Given the description of an element on the screen output the (x, y) to click on. 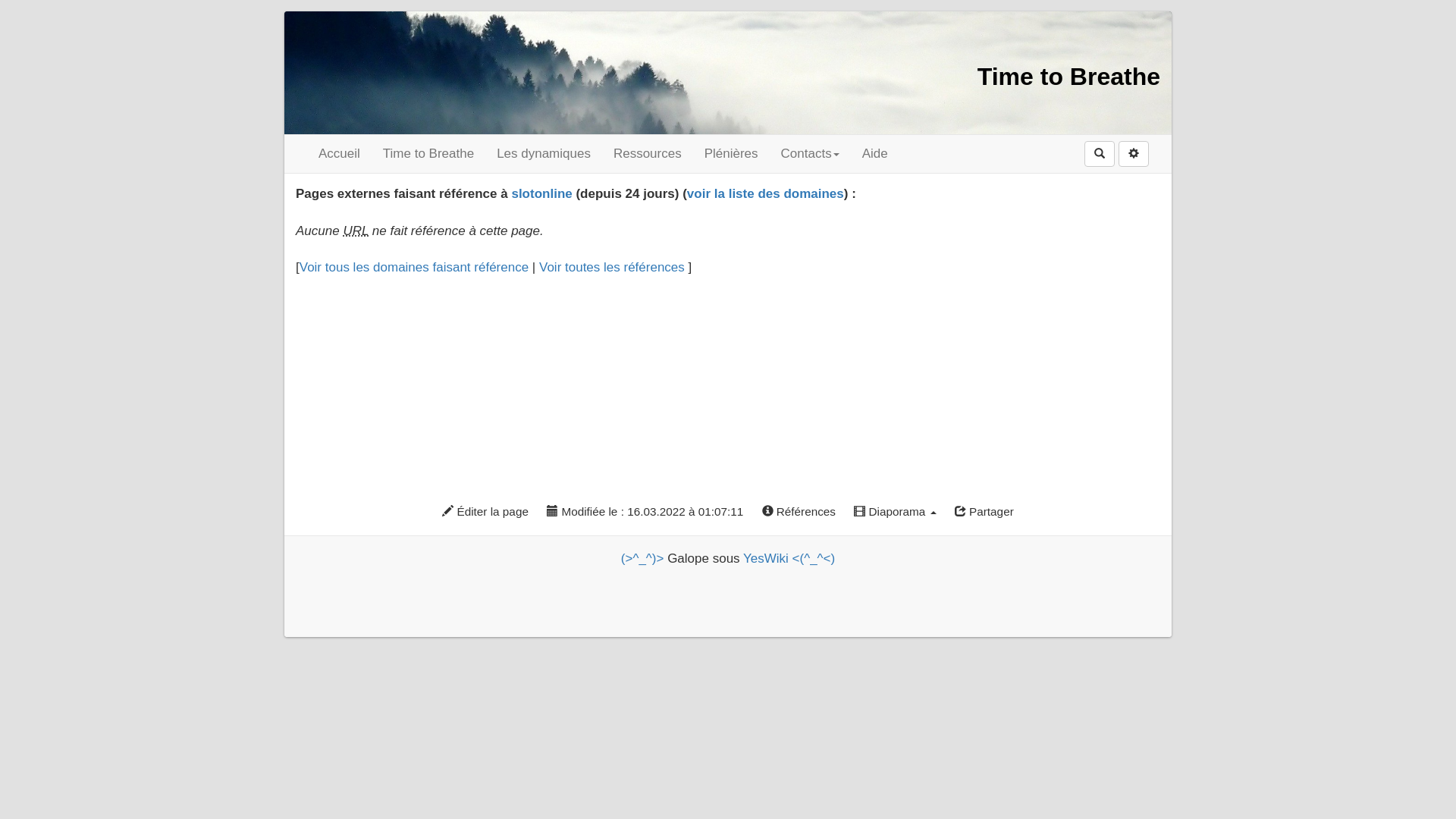
Contacts Element type: text (809, 153)
<(^_^<) Element type: text (813, 558)
 Diaporama Element type: text (894, 511)
slotonline Element type: text (541, 193)
Rechercher Element type: text (1099, 153)
 Partager Element type: text (984, 511)
Aide Element type: text (874, 153)
Les dynamiques Element type: text (543, 153)
Ressources Element type: text (647, 153)
Time to Breathe Element type: text (428, 153)
voir la liste des domaines Element type: text (765, 193)
(>^_^)> Element type: text (642, 558)
YesWiki Element type: text (765, 558)
Accueil Element type: text (339, 153)
